Given the description of an element on the screen output the (x, y) to click on. 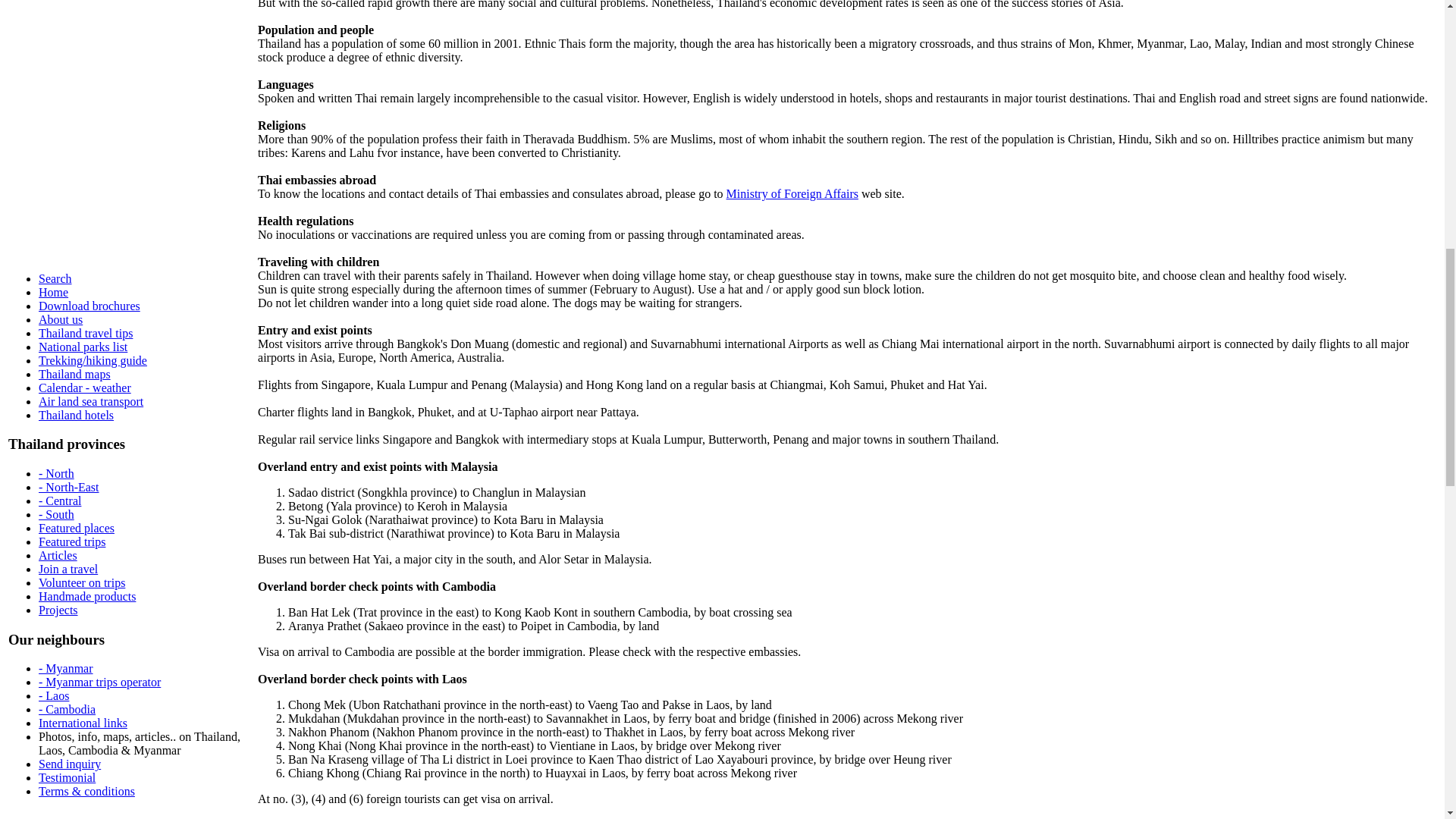
International links (83, 722)
- Cambodia (67, 708)
Join a travel (68, 568)
Featured trips (71, 541)
Featured places (77, 527)
National parks list (83, 346)
Thailand travel tips (85, 332)
Ministry of Foreign Affairs (792, 193)
Thailand hotels (76, 414)
- North-East (69, 486)
